Given the description of an element on the screen output the (x, y) to click on. 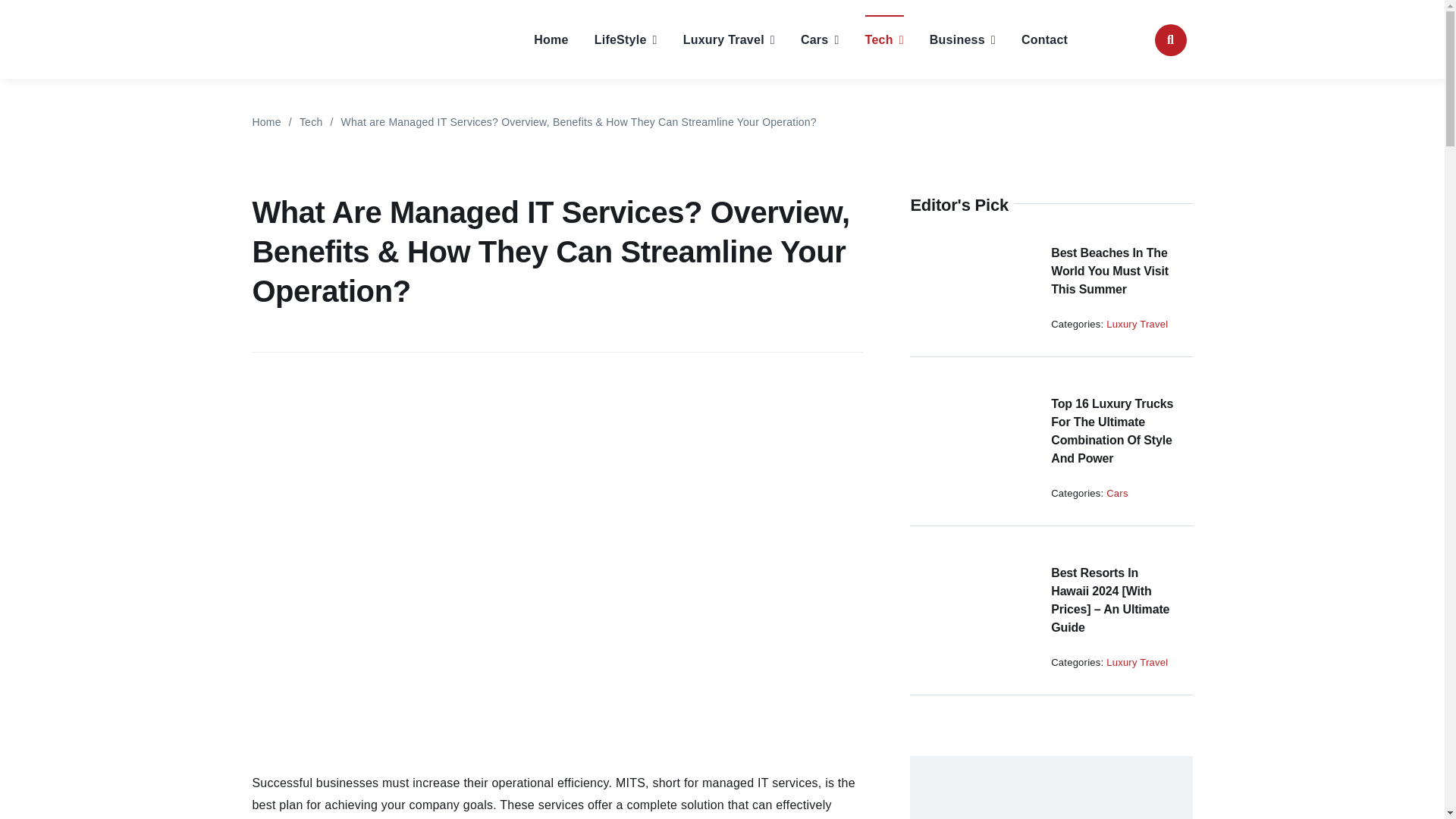
Home (550, 39)
Business (962, 39)
Best Resorts In Hawaii (969, 607)
Luxury Travel (728, 39)
Cars (820, 39)
Tech (311, 121)
Home (266, 121)
Tech (884, 39)
Best Beaches In The World (969, 287)
LifeStyle (626, 39)
Best Luxury Trucks (969, 437)
Contact (1044, 39)
